Given the description of an element on the screen output the (x, y) to click on. 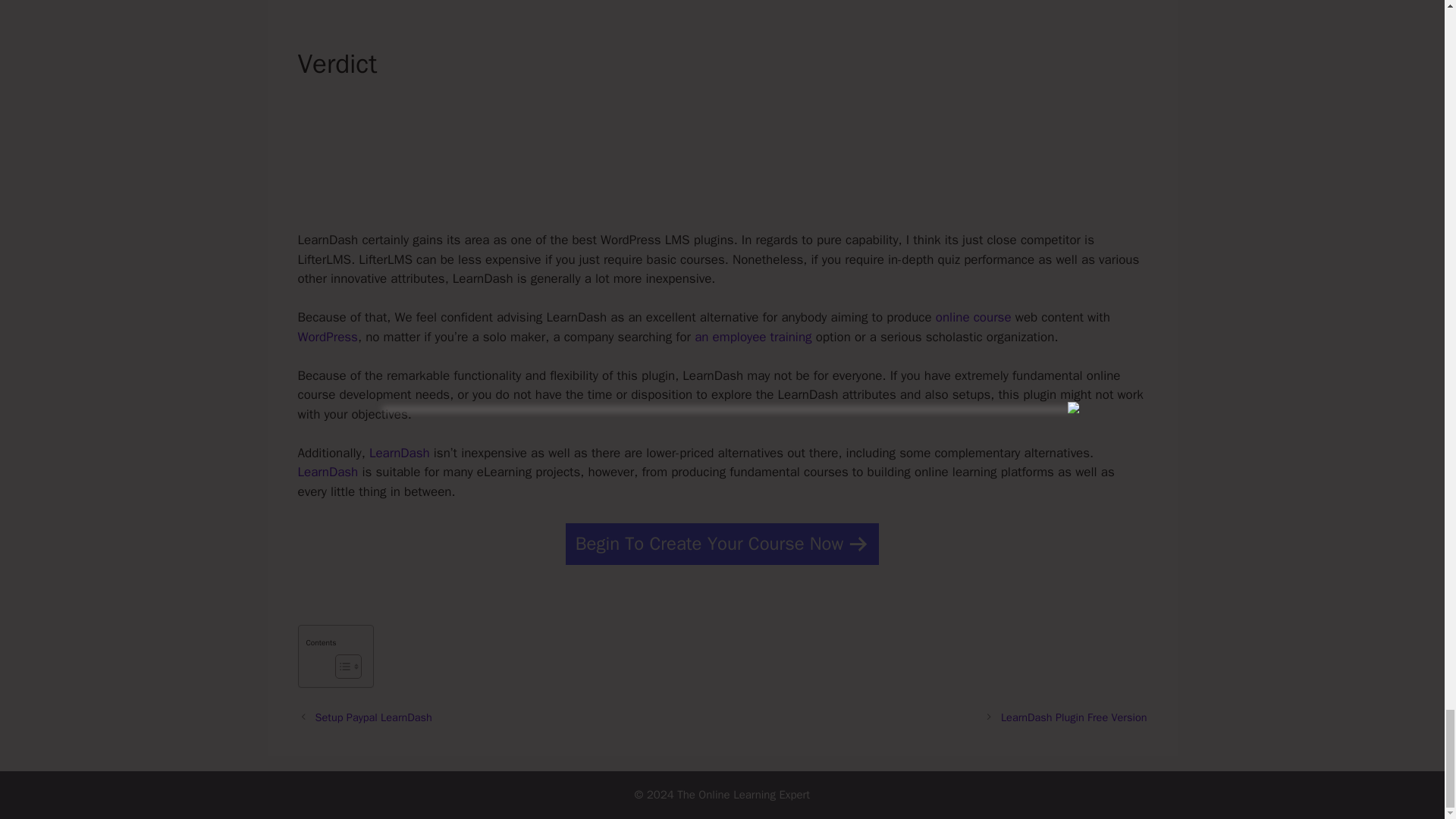
an employee training (752, 336)
LearnDash Plugin Free Version (1074, 716)
Setup Paypal LearnDash (373, 716)
LearnDash (327, 471)
LearnDash (399, 453)
online course (973, 317)
WordPress (326, 336)
Begin To Create Your Course Now (722, 544)
